Given the description of an element on the screen output the (x, y) to click on. 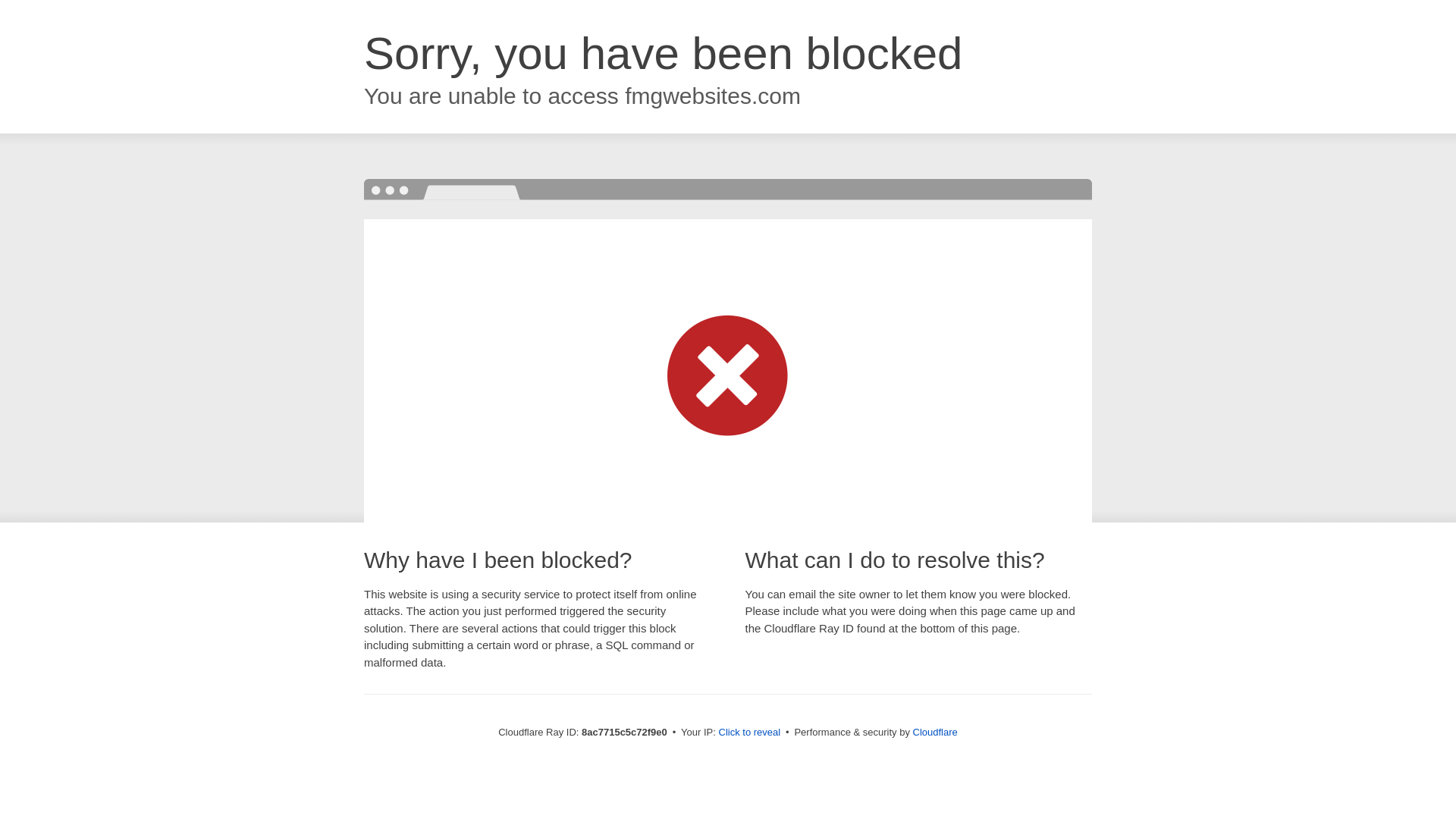
Cloudflare (935, 731)
Click to reveal (749, 732)
